Given the description of an element on the screen output the (x, y) to click on. 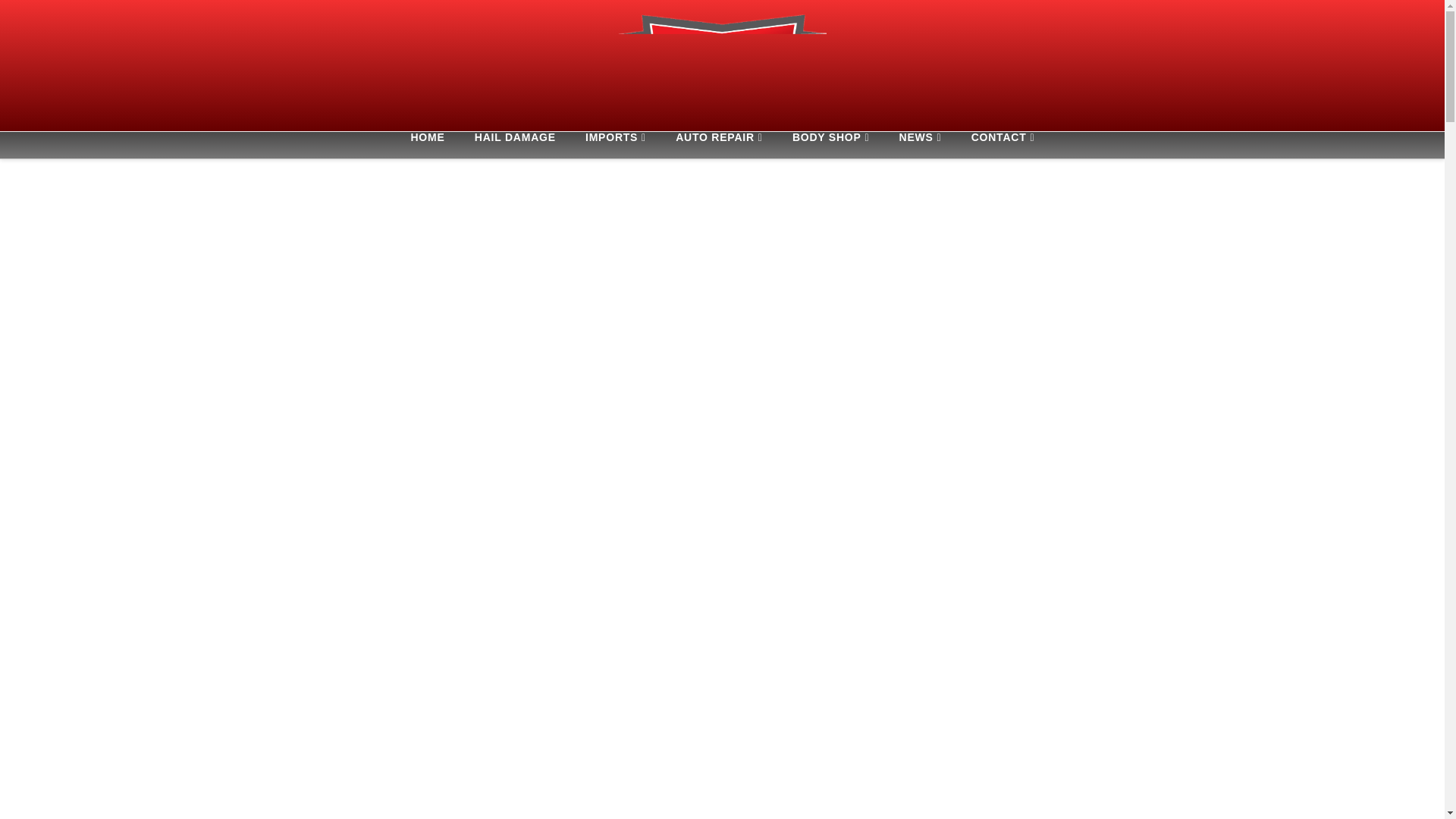
NEWS (919, 144)
HAIL DAMAGE (515, 144)
AUTO REPAIR (719, 144)
BODY SHOP (830, 144)
CONTACT (1002, 144)
HOME (426, 144)
IMPORTS (615, 144)
